Given the description of an element on the screen output the (x, y) to click on. 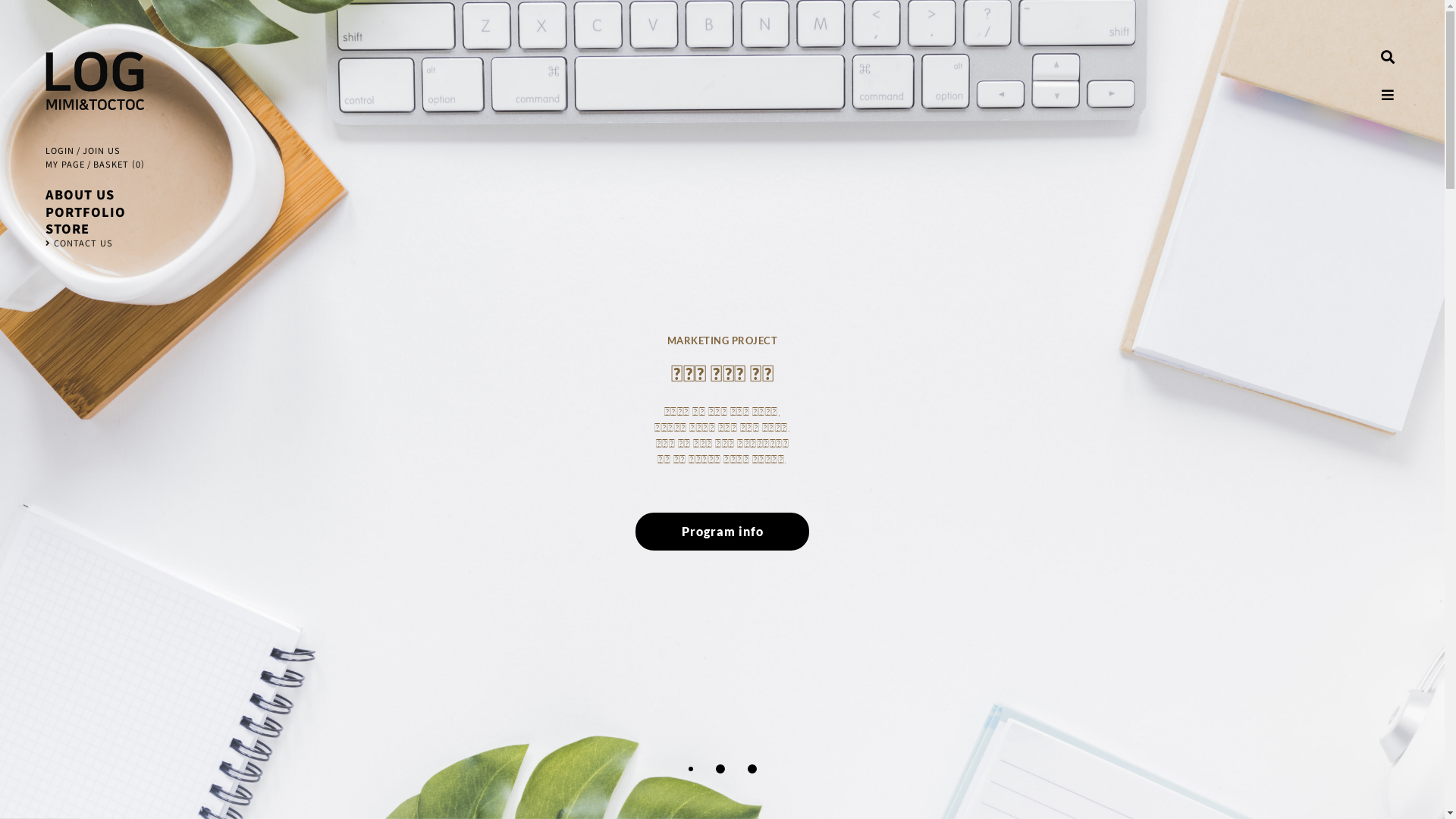
LOGIN Element type: text (59, 150)
CONTACT US Element type: text (94, 243)
BASKET (0) Element type: text (118, 164)
Program info Element type: text (365, 471)
PORTFOLIO Element type: text (94, 211)
STORE Element type: text (94, 227)
JOIN US Element type: text (101, 150)
ABOUT US Element type: text (94, 193)
Program info Element type: text (722, 531)
MY PAGE Element type: text (64, 164)
